Given the description of an element on the screen output the (x, y) to click on. 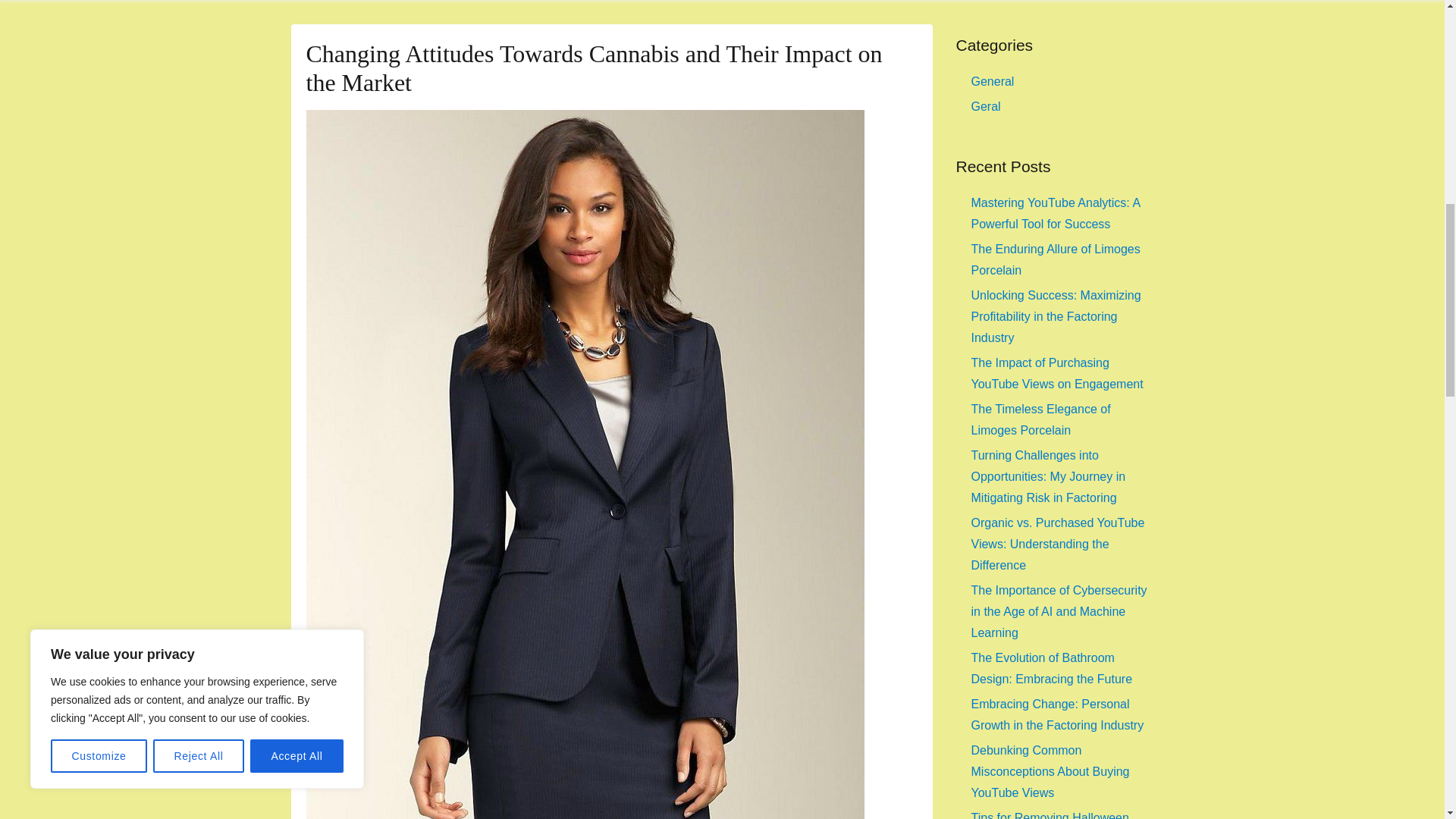
Geral (985, 106)
The Enduring Allure of Limoges Porcelain (1055, 259)
Mastering YouTube Analytics: A Powerful Tool for Success (1055, 213)
The Impact of Purchasing YouTube Views on Engagement (1056, 373)
General (992, 81)
